Given the description of an element on the screen output the (x, y) to click on. 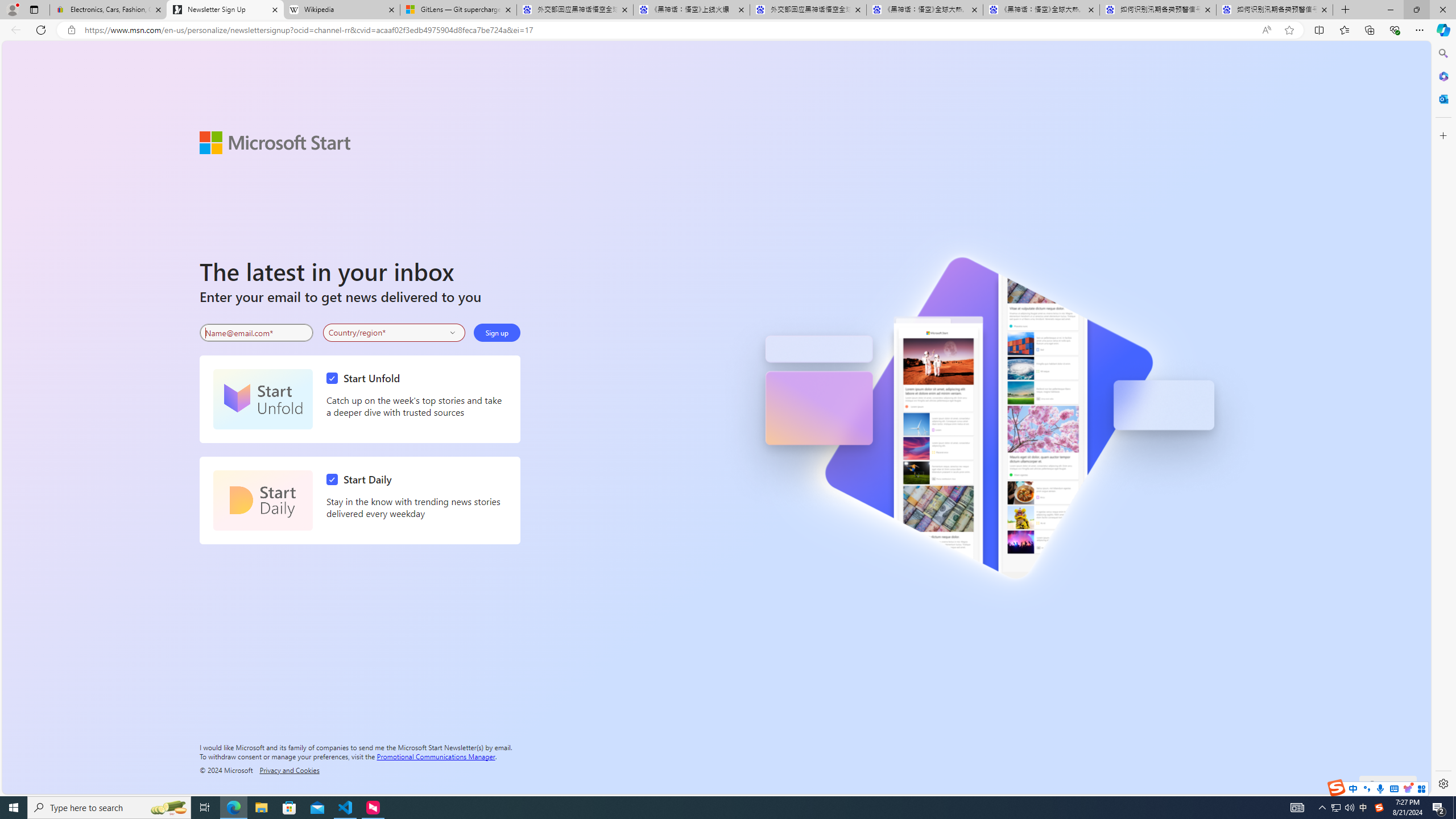
Outlook (1442, 98)
Feedback (1387, 784)
Microsoft Start (274, 142)
Select your country (393, 332)
Electronics, Cars, Fashion, Collectibles & More | eBay (108, 9)
Start Daily (361, 479)
Favorites (1344, 29)
